Given the description of an element on the screen output the (x, y) to click on. 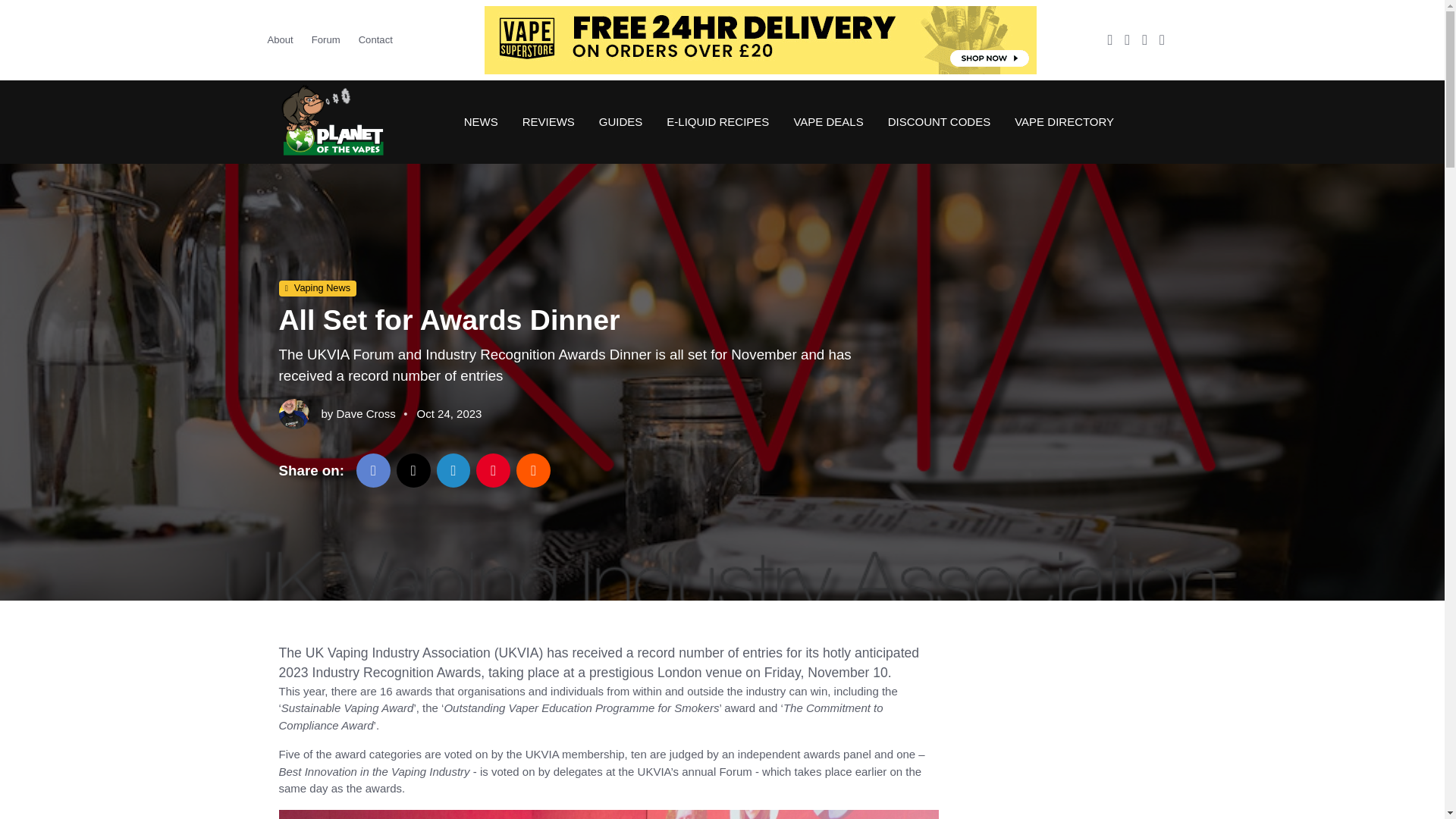
VAPE DIRECTORY (1058, 121)
About (283, 39)
Vaping News (317, 288)
E-LIQUID RECIPES (716, 121)
Dave Cross (366, 413)
GUIDES (620, 121)
NEWS (481, 121)
VAPE DEALS (827, 121)
DISCOUNT CODES (939, 121)
